Given the description of an element on the screen output the (x, y) to click on. 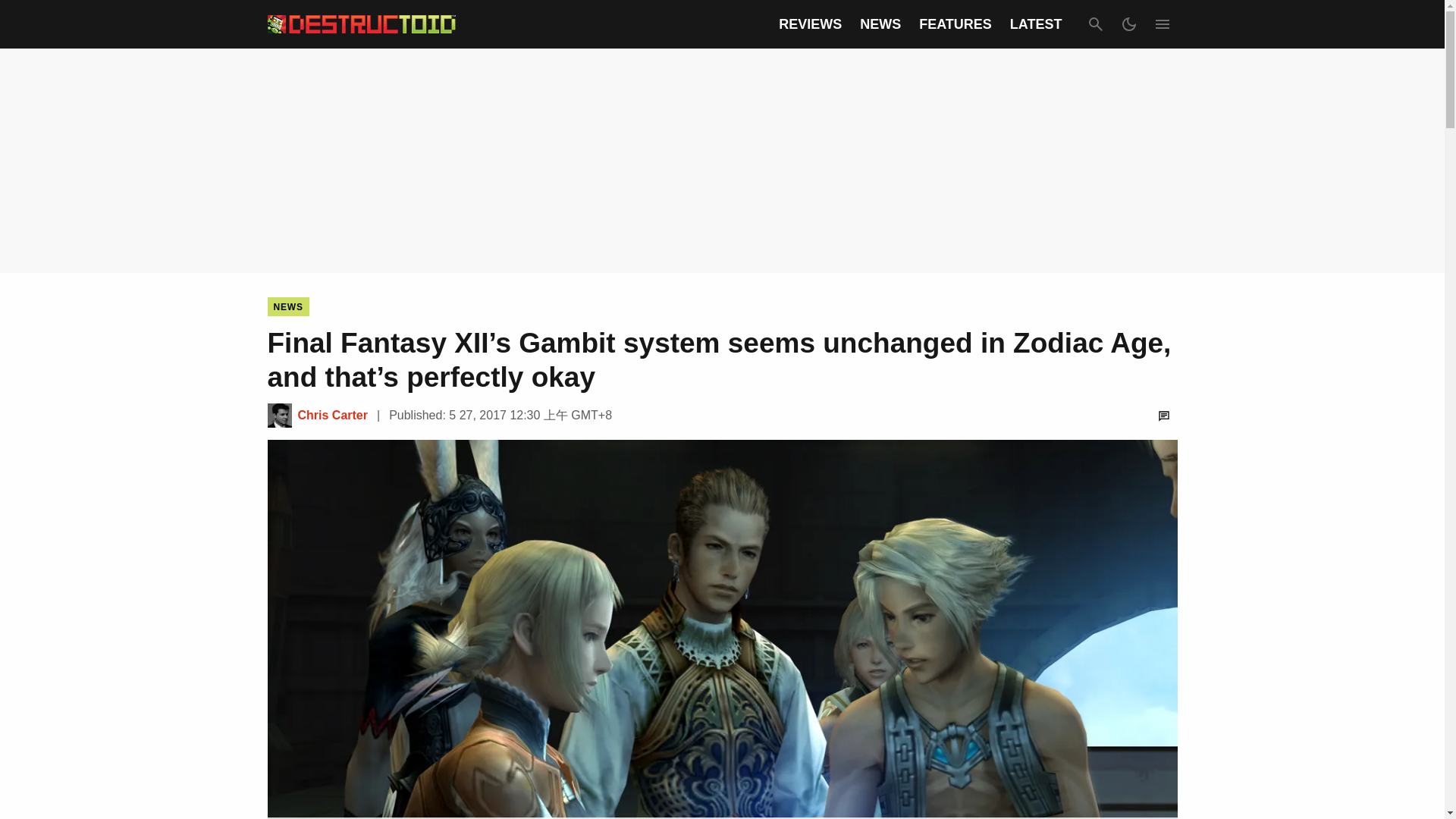
FEATURES (954, 23)
Search (1094, 24)
Expand Menu (1161, 24)
Dark Mode (1127, 24)
NEWS (880, 23)
REVIEWS (809, 23)
NEWS (287, 306)
LATEST (1036, 23)
